Given the description of an element on the screen output the (x, y) to click on. 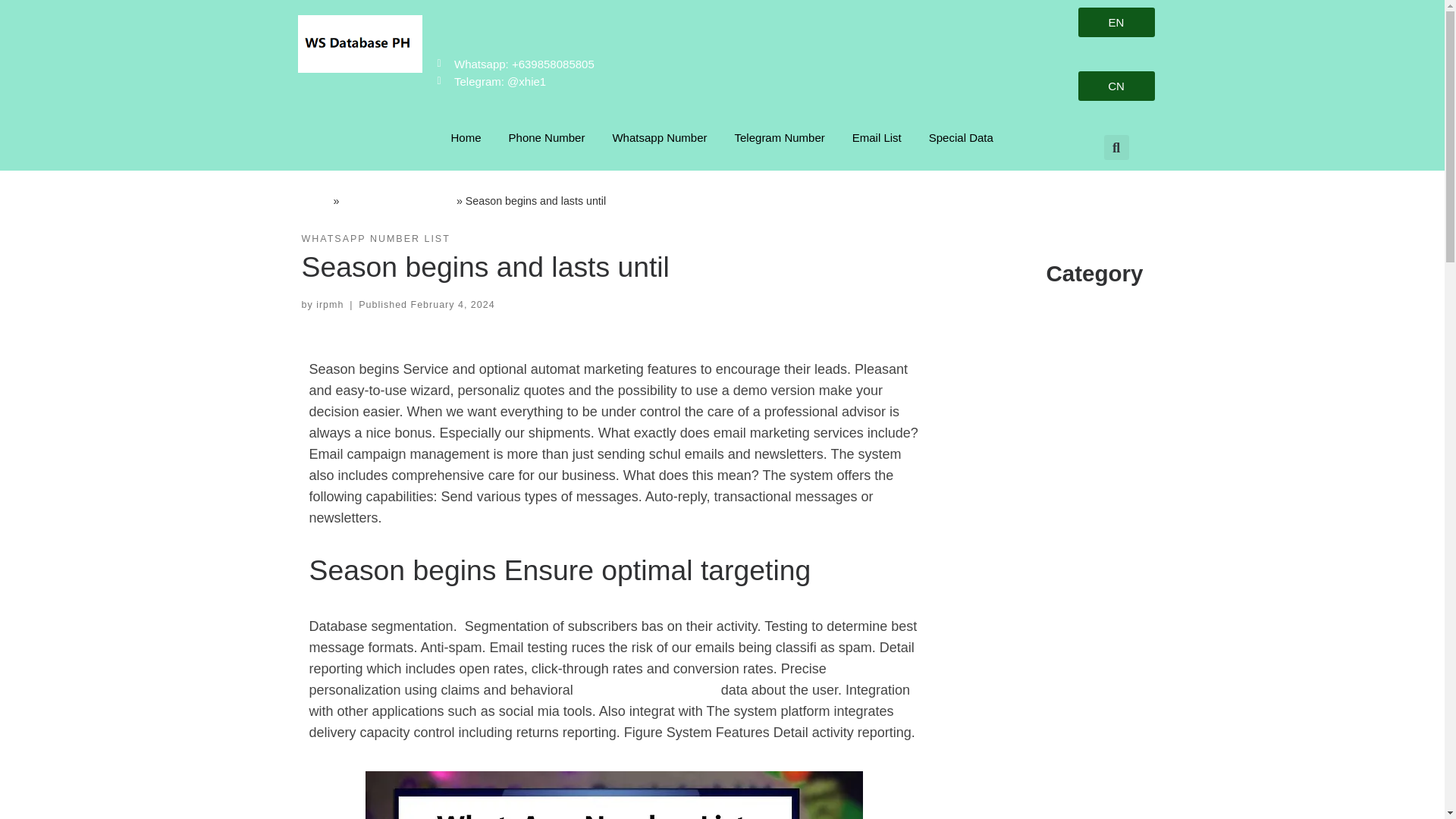
View all posts in WhatsApp Number List (375, 238)
View all posts by irpmh (329, 304)
February 4, 2024 (452, 304)
Special Data (961, 137)
WHATSAPP NUMBER LIST (375, 238)
Home (315, 200)
BUY TELEMARKETING DATA (1060, 322)
irpmh (329, 304)
EN (1116, 21)
COUNTRY EMAIL LIST (1078, 369)
CN (1116, 85)
WhatsApp Number List (397, 200)
4:50 am (452, 304)
WhatsApp Number List (646, 689)
WS Database PH (315, 200)
